Given the description of an element on the screen output the (x, y) to click on. 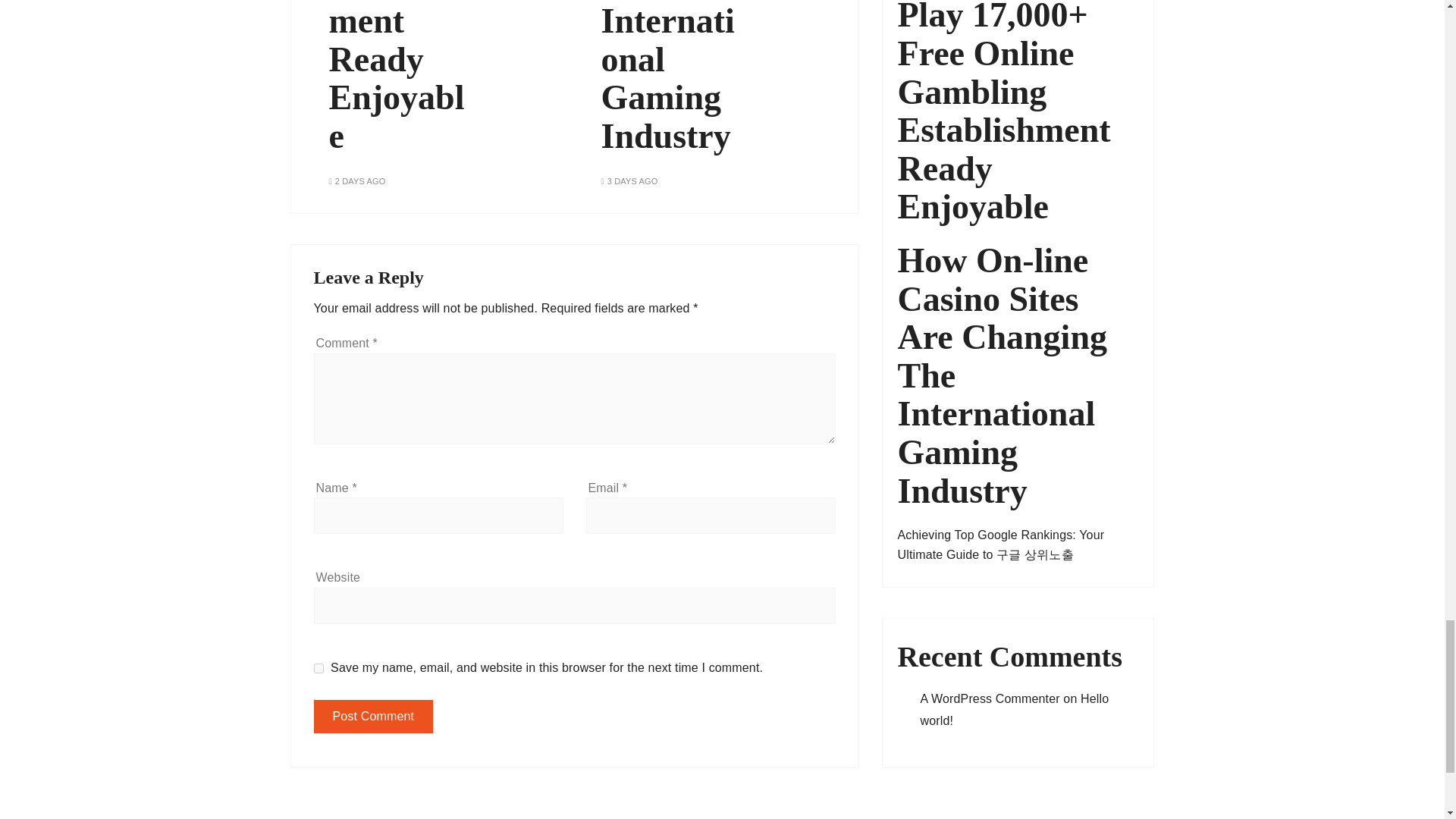
yes (318, 668)
Post Comment (373, 716)
Post Comment (373, 716)
